Given the description of an element on the screen output the (x, y) to click on. 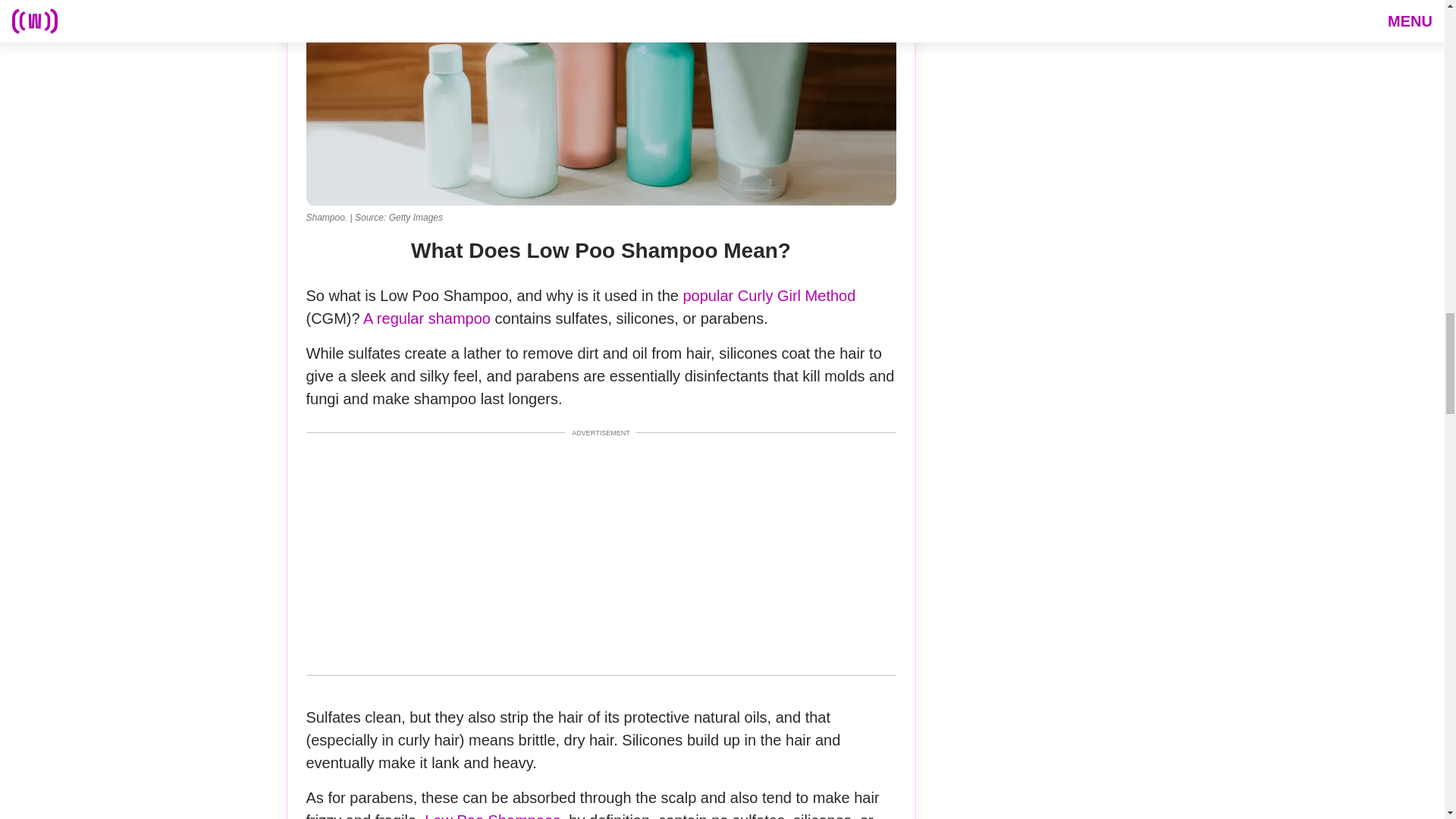
popular Curly Girl Method (769, 295)
Low Poo Shampoos (490, 815)
A regular shampoo (426, 318)
